Given the description of an element on the screen output the (x, y) to click on. 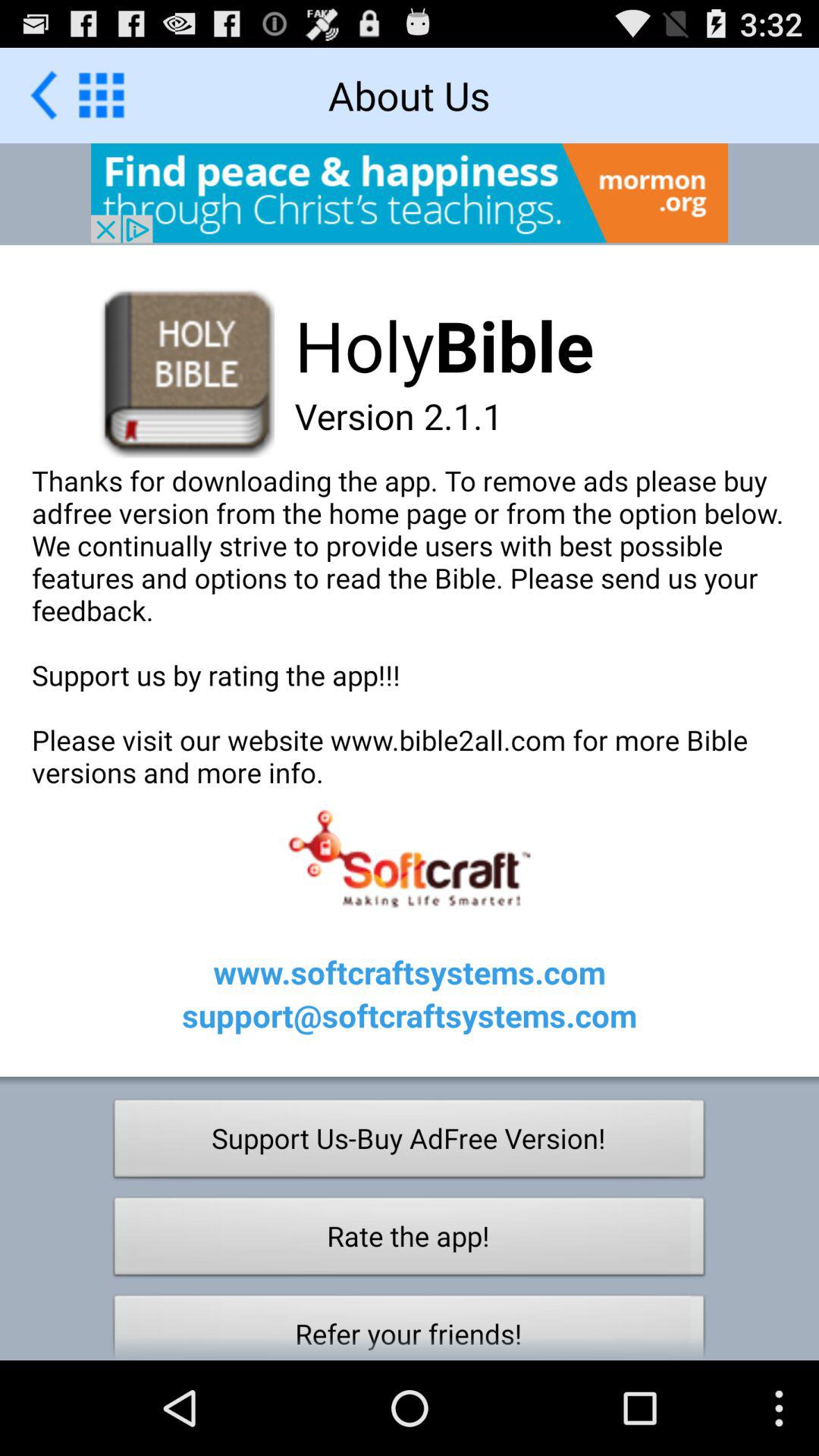
open mormon.org advertisement website (409, 192)
